Given the description of an element on the screen output the (x, y) to click on. 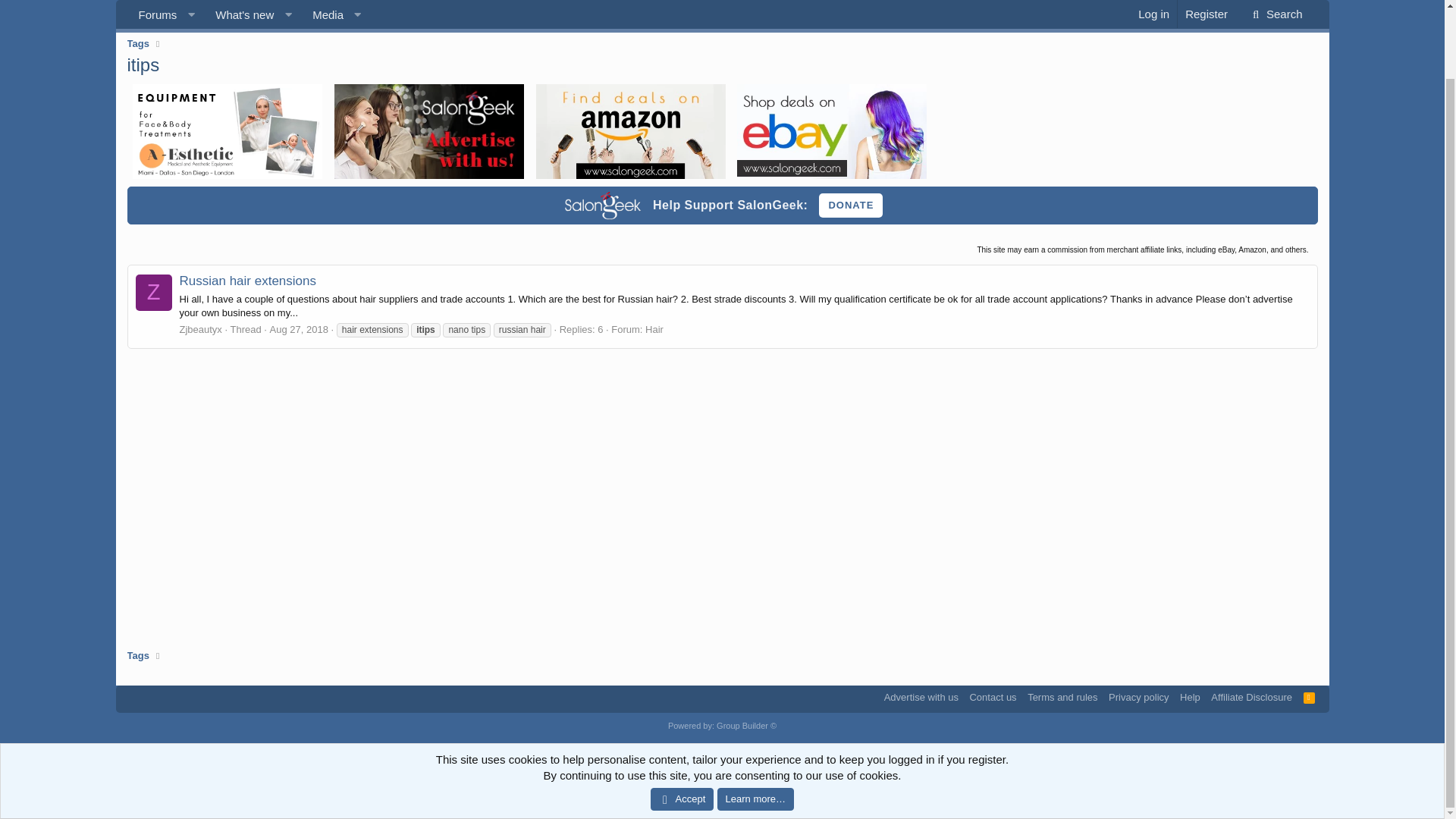
Russian hair extensions (247, 280)
Register (228, 20)
PayPal - The safer, easier way to pay online! (850, 205)
Media (323, 4)
Search (1274, 4)
What's new (239, 4)
Log in (1153, 3)
Aug 27, 2018 at 8:13 PM (299, 328)
Latest activity (253, 4)
Z (165, 20)
RSS (153, 292)
Forums (1308, 697)
Tags (722, 20)
